Given the description of an element on the screen output the (x, y) to click on. 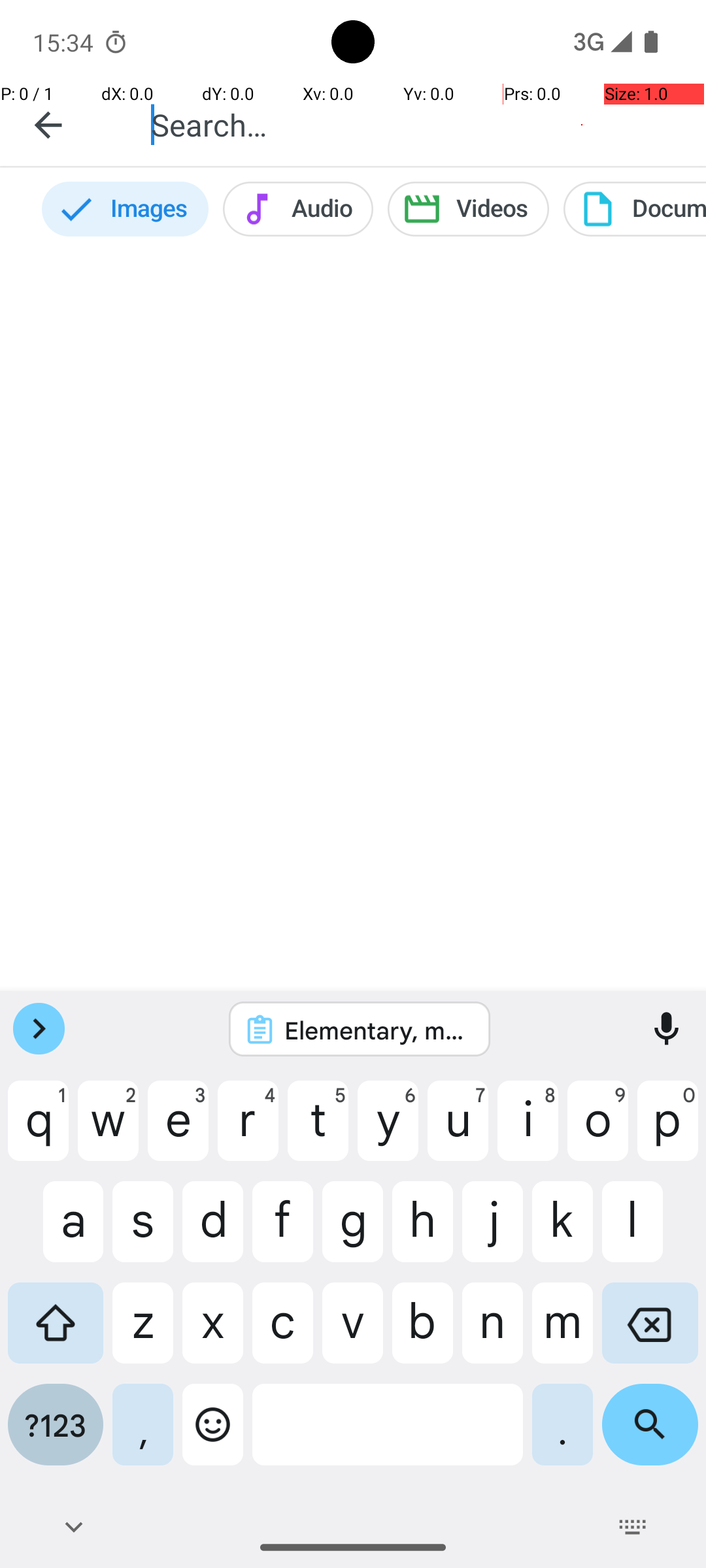
Elementary, my dear Watson. Element type: android.widget.TextView (376, 1029)
